Given the description of an element on the screen output the (x, y) to click on. 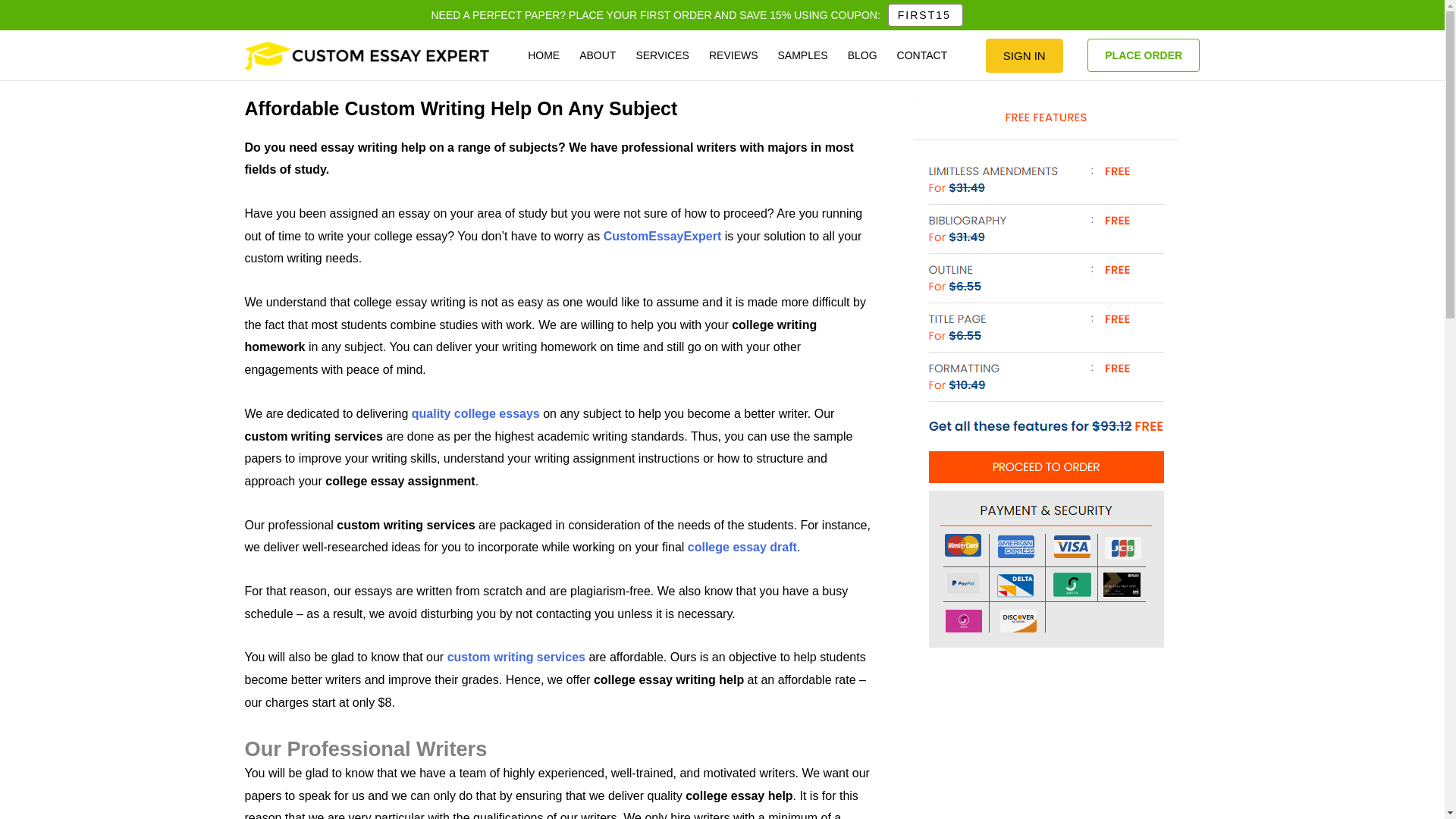
CONTACT (922, 54)
quality college essays (476, 413)
FIRST15 (925, 15)
BLOG (862, 54)
CustomEssayExpert (663, 236)
SAMPLES (803, 54)
SIGN IN (1023, 54)
HOME (543, 54)
PLACE ORDER (1143, 55)
ABOUT (597, 54)
